Given the description of an element on the screen output the (x, y) to click on. 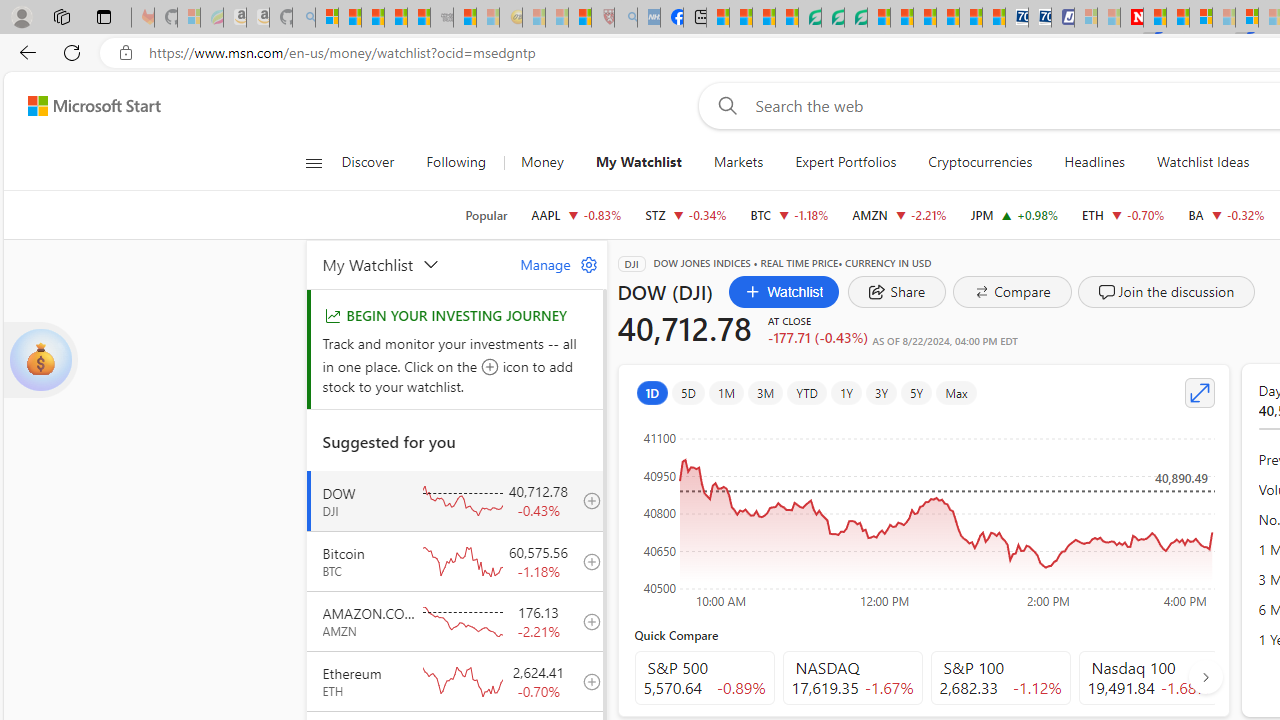
5Y (917, 392)
Compare (1012, 291)
5D (687, 392)
Headlines (1094, 162)
